Given the description of an element on the screen output the (x, y) to click on. 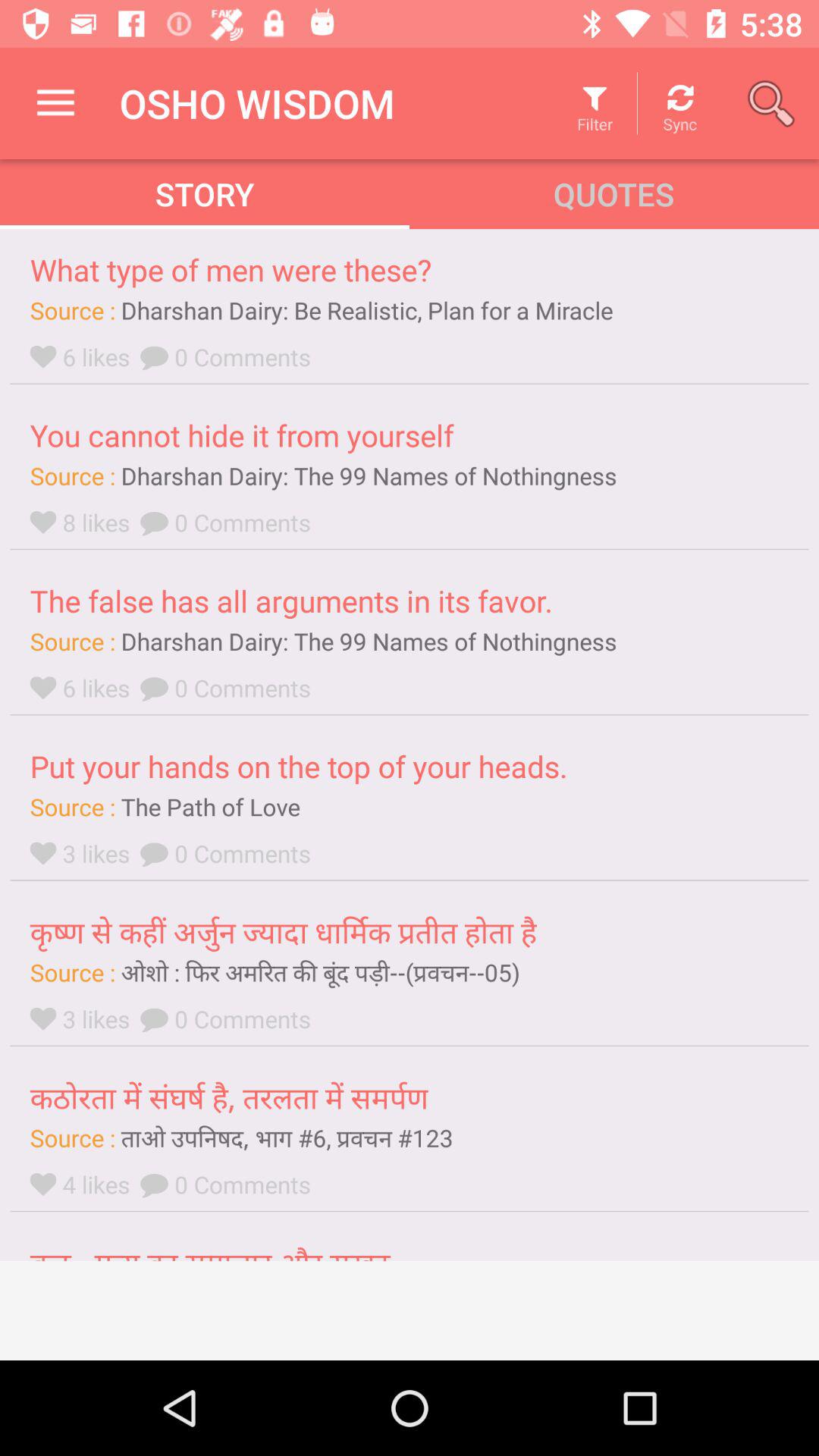
turn on icon next to the osho wisdom item (55, 103)
